Given the description of an element on the screen output the (x, y) to click on. 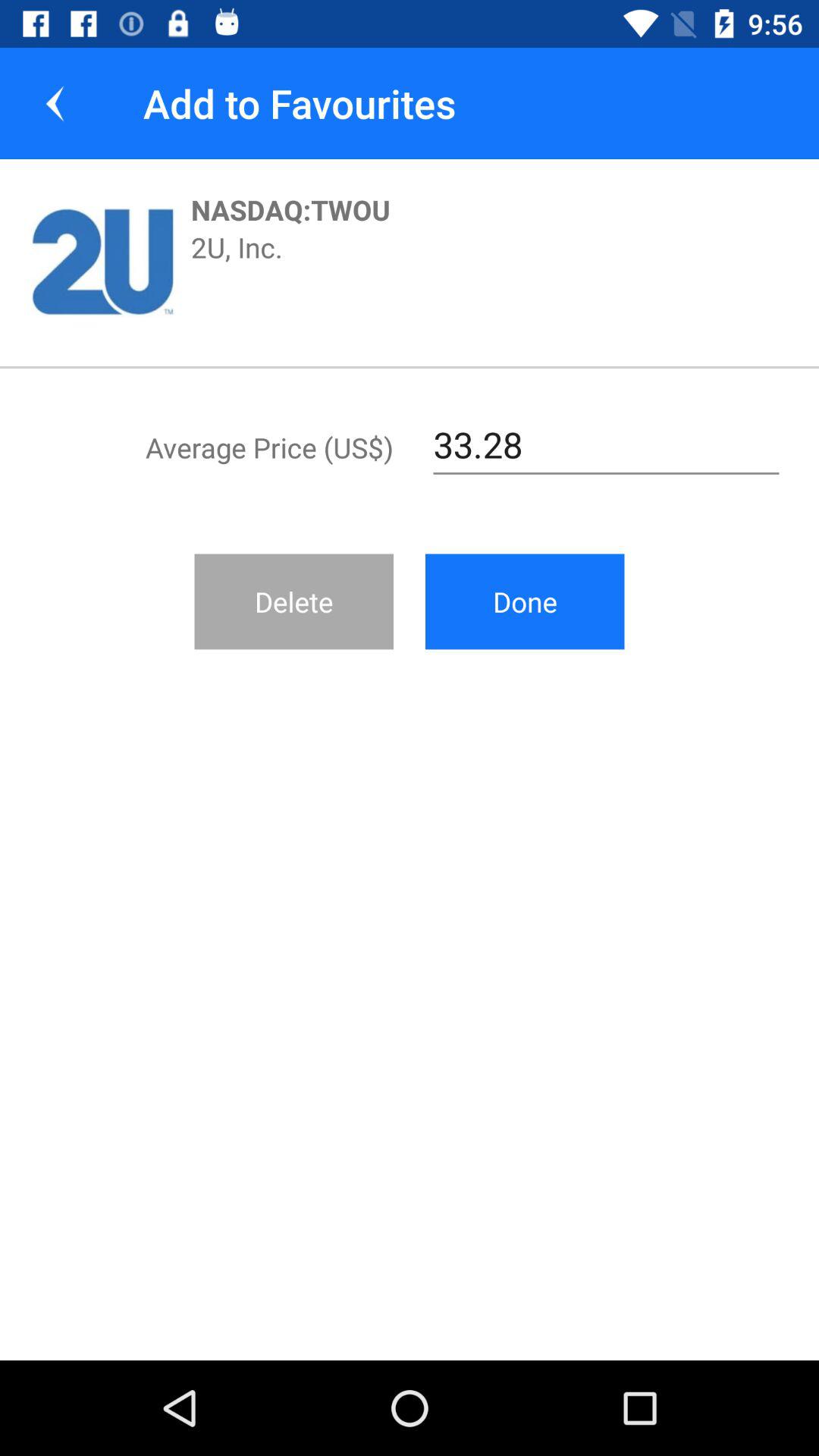
select item below 33.28 (524, 601)
